Given the description of an element on the screen output the (x, y) to click on. 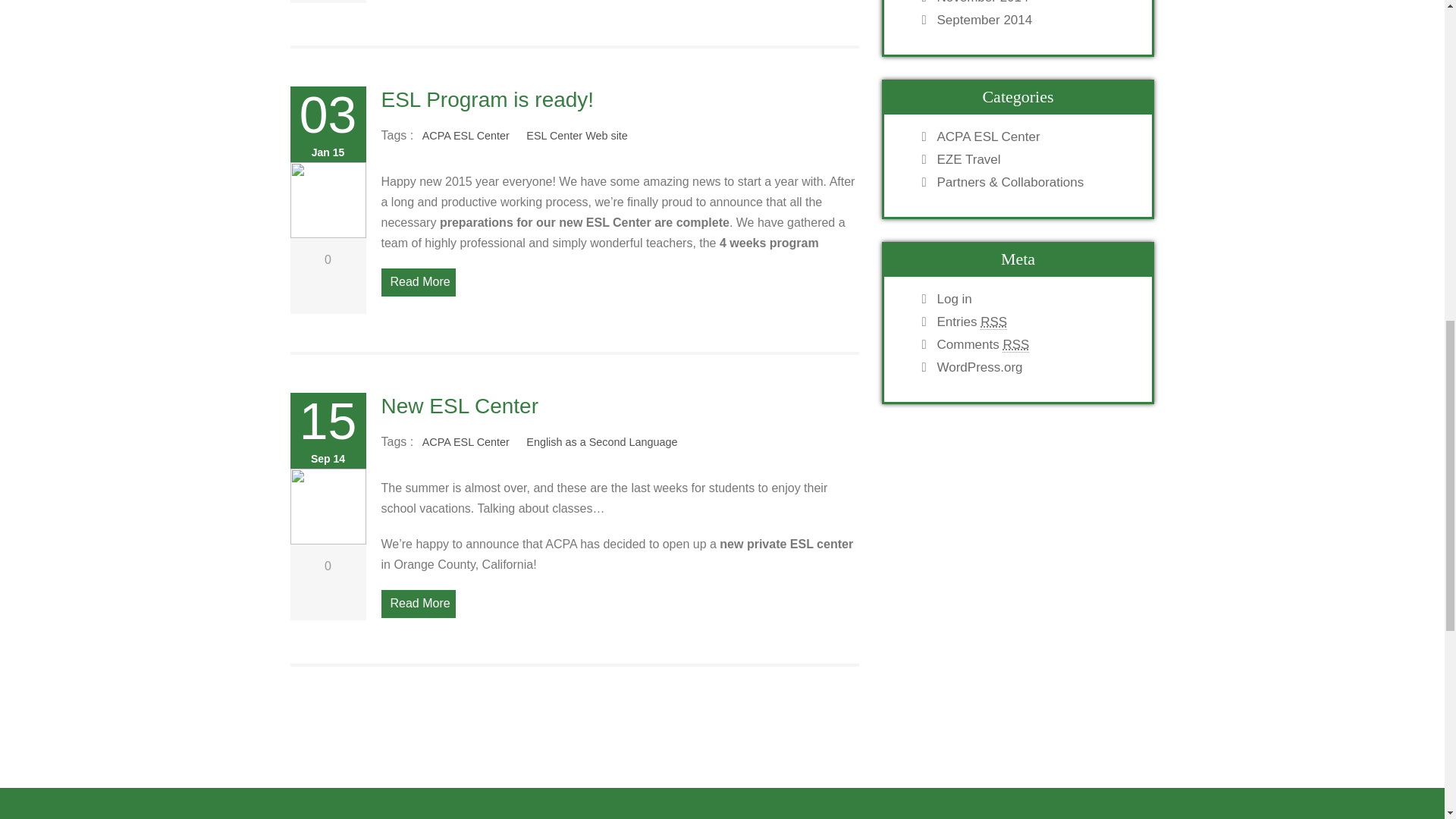
ACPA ESL Center (465, 442)
ESL Center Web site (577, 135)
November 2014 (1033, 2)
September 2014 (1033, 20)
English as a Second Language (601, 442)
ACPA ESL Center (465, 135)
Read More (417, 603)
New ESL Center (459, 405)
ESL Program is ready! (487, 99)
Read More (417, 282)
